Given the description of an element on the screen output the (x, y) to click on. 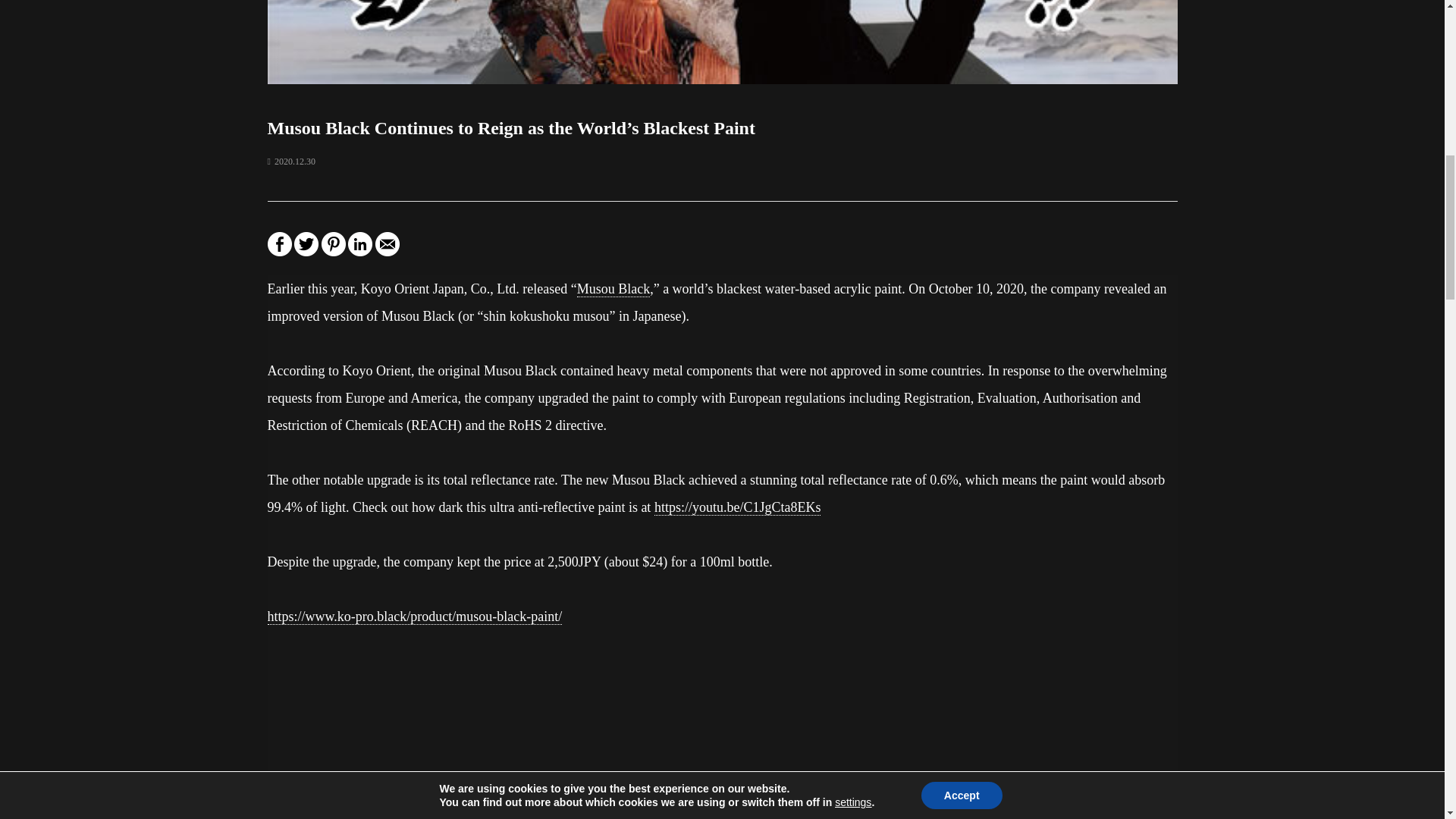
Musou Black (613, 289)
Share on Facebook (278, 250)
Send email (386, 250)
Share on LinkedIn (359, 250)
Pin it (333, 250)
Tweet (306, 250)
